Given the description of an element on the screen output the (x, y) to click on. 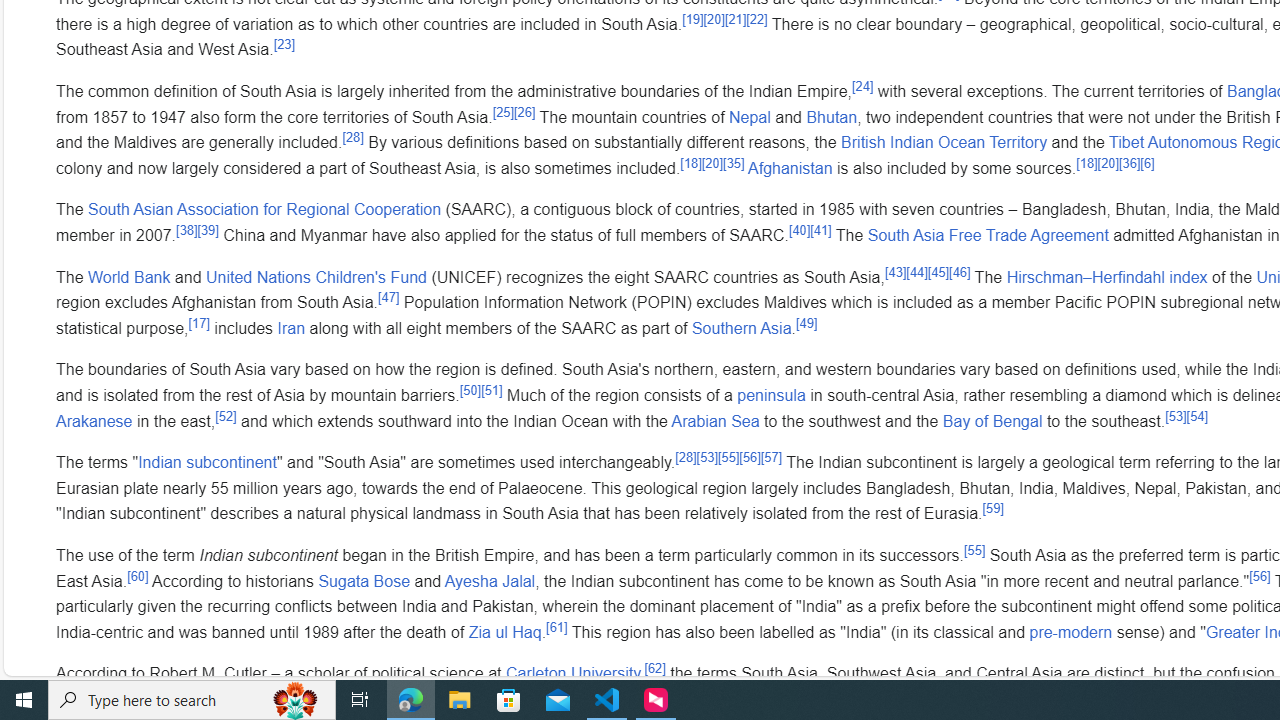
[43] (895, 272)
[49] (806, 323)
Carleton University (572, 674)
Southern Asia (741, 327)
[56] (1260, 575)
World Bank (129, 276)
pre-modern (1071, 631)
[55] (974, 550)
[20] (1107, 162)
Arabian Sea (715, 420)
[21] (735, 18)
[60] (137, 575)
